Given the description of an element on the screen output the (x, y) to click on. 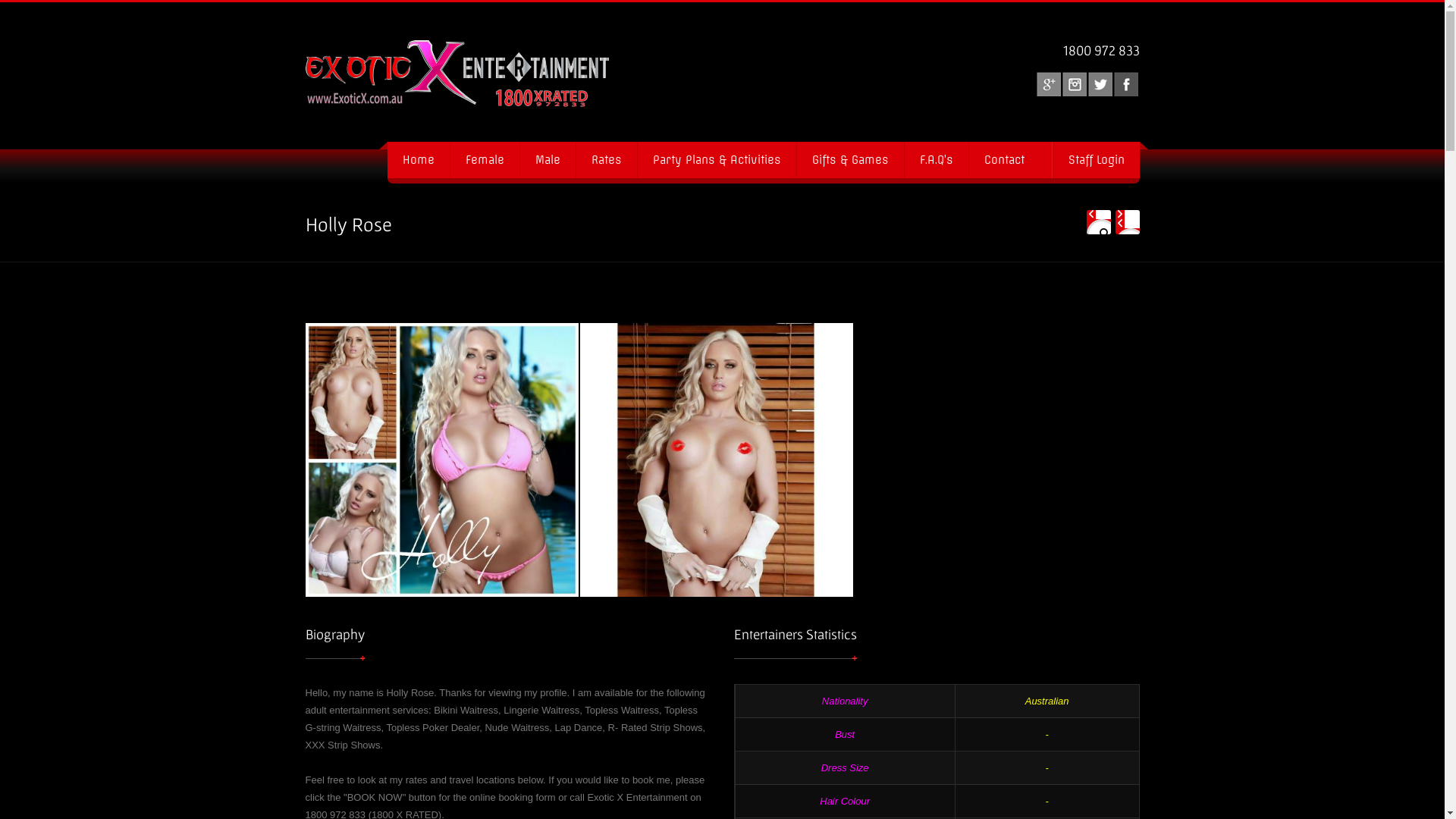
Home Element type: text (417, 159)
Rates Element type: text (605, 159)
Exotic X Entertainment Element type: hover (429, 75)
Contact Element type: text (1009, 159)
Gifts & Games Element type: text (849, 159)
Party Plans & Activities Element type: text (716, 159)
1442465451824 Element type: hover (441, 459)
Male Element type: text (546, 159)
FB_IMG_1441527364257 Element type: hover (716, 459)
Female Element type: text (483, 159)
Staff Login Element type: text (1095, 159)
1800 972 833 Element type: text (1101, 50)
